Given the description of an element on the screen output the (x, y) to click on. 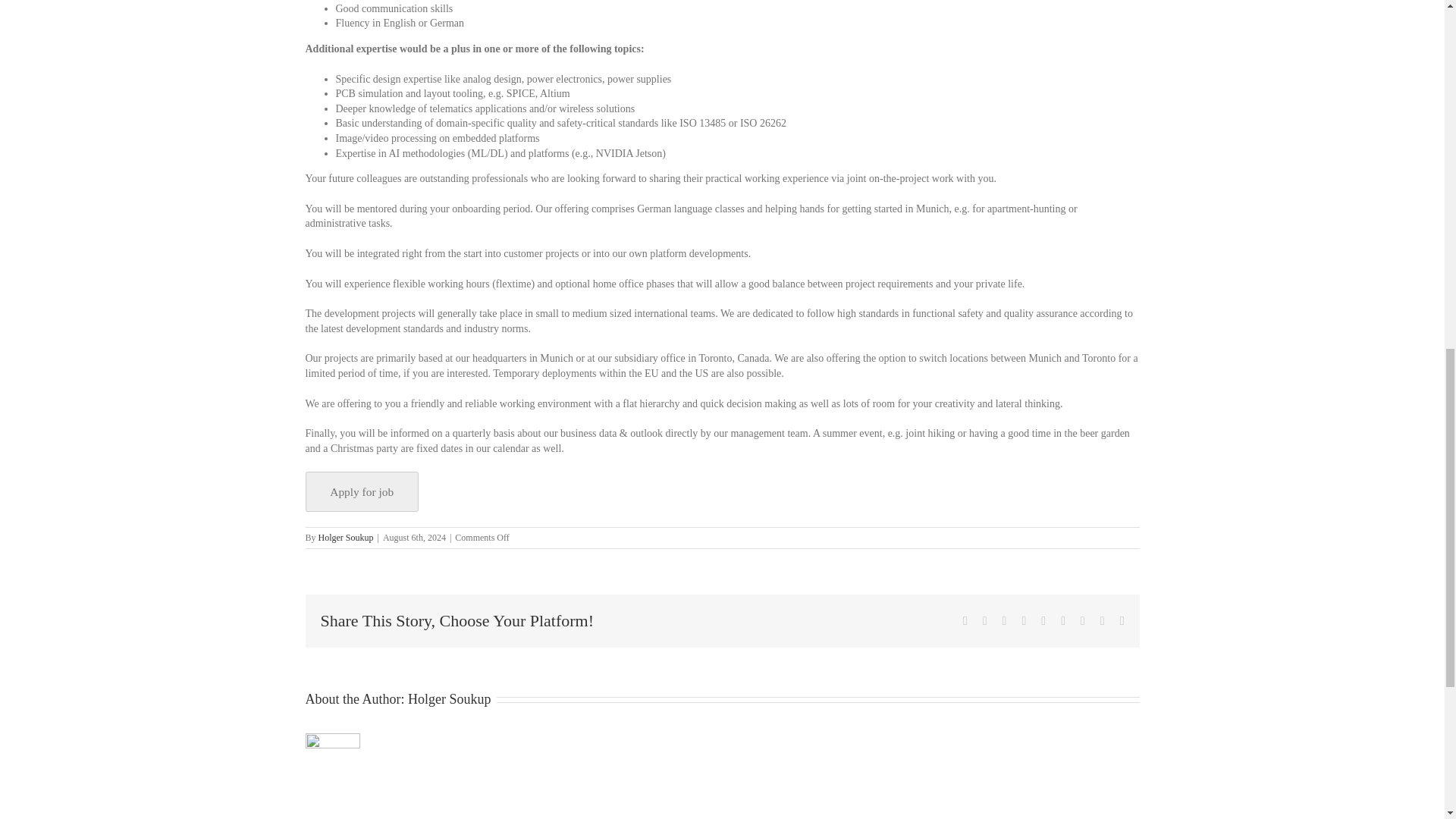
Posts by Holger Soukup (449, 698)
Apply for job (360, 491)
Posts by Holger Soukup (346, 537)
